Given the description of an element on the screen output the (x, y) to click on. 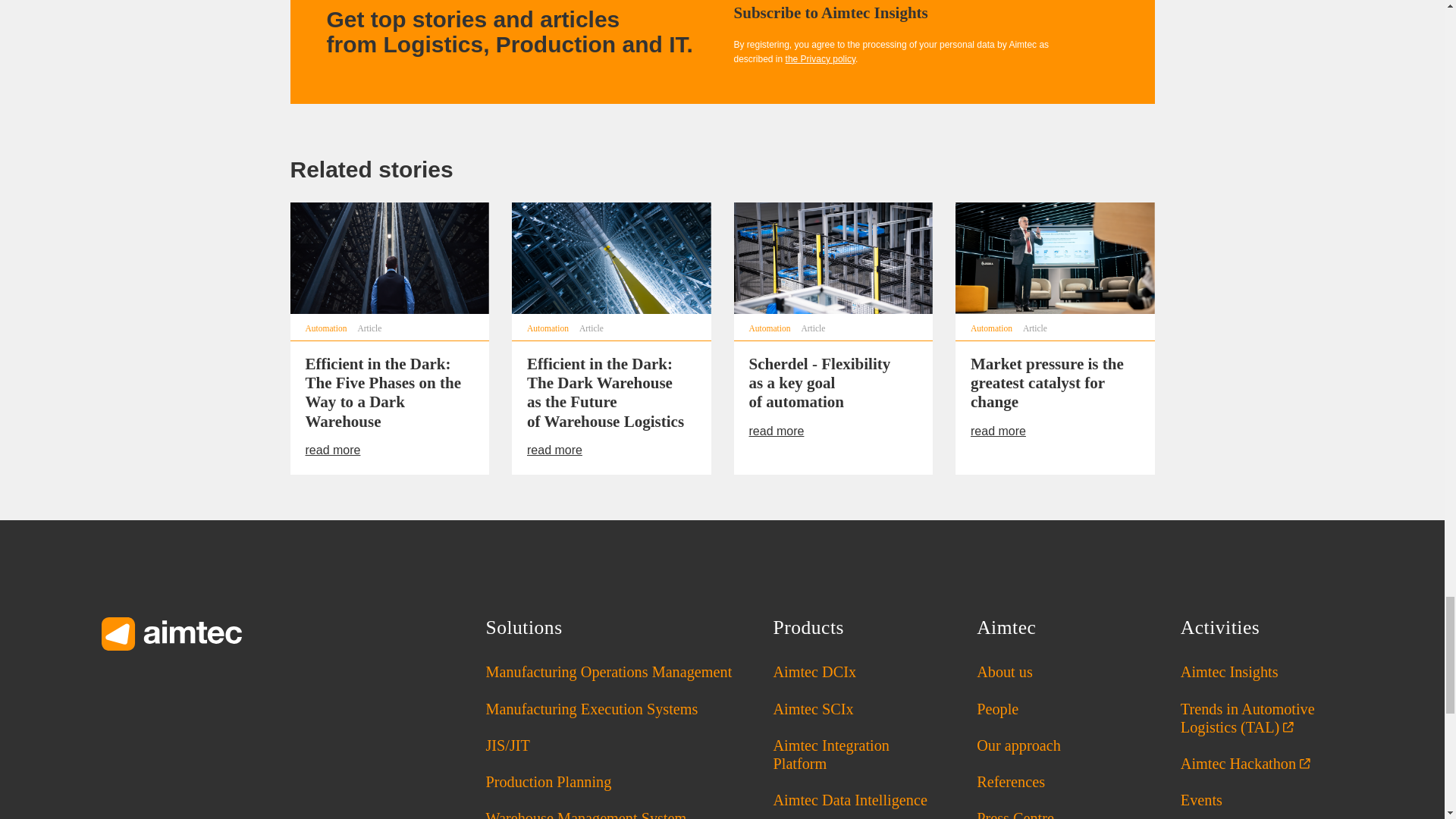
Automation (325, 327)
the Privacy policy (821, 59)
read more (341, 449)
